Given the description of an element on the screen output the (x, y) to click on. 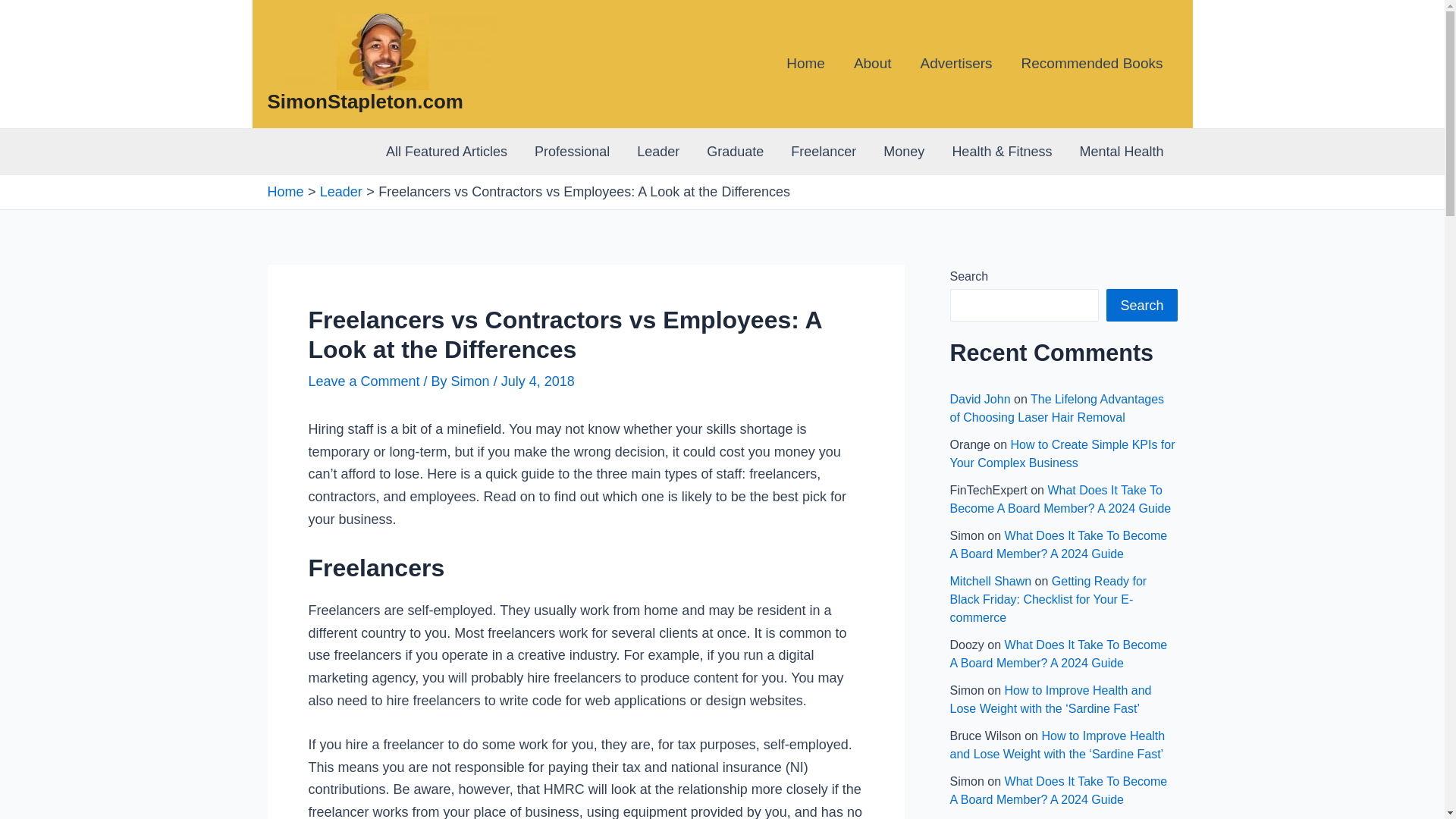
Search (1141, 305)
SimonStapleton.com (364, 101)
Freelancer (823, 151)
Mental Health (1120, 151)
Leader (341, 191)
Leader (658, 151)
Recommended Books (1092, 63)
Home (805, 63)
About (872, 63)
Professional (572, 151)
